Given the description of an element on the screen output the (x, y) to click on. 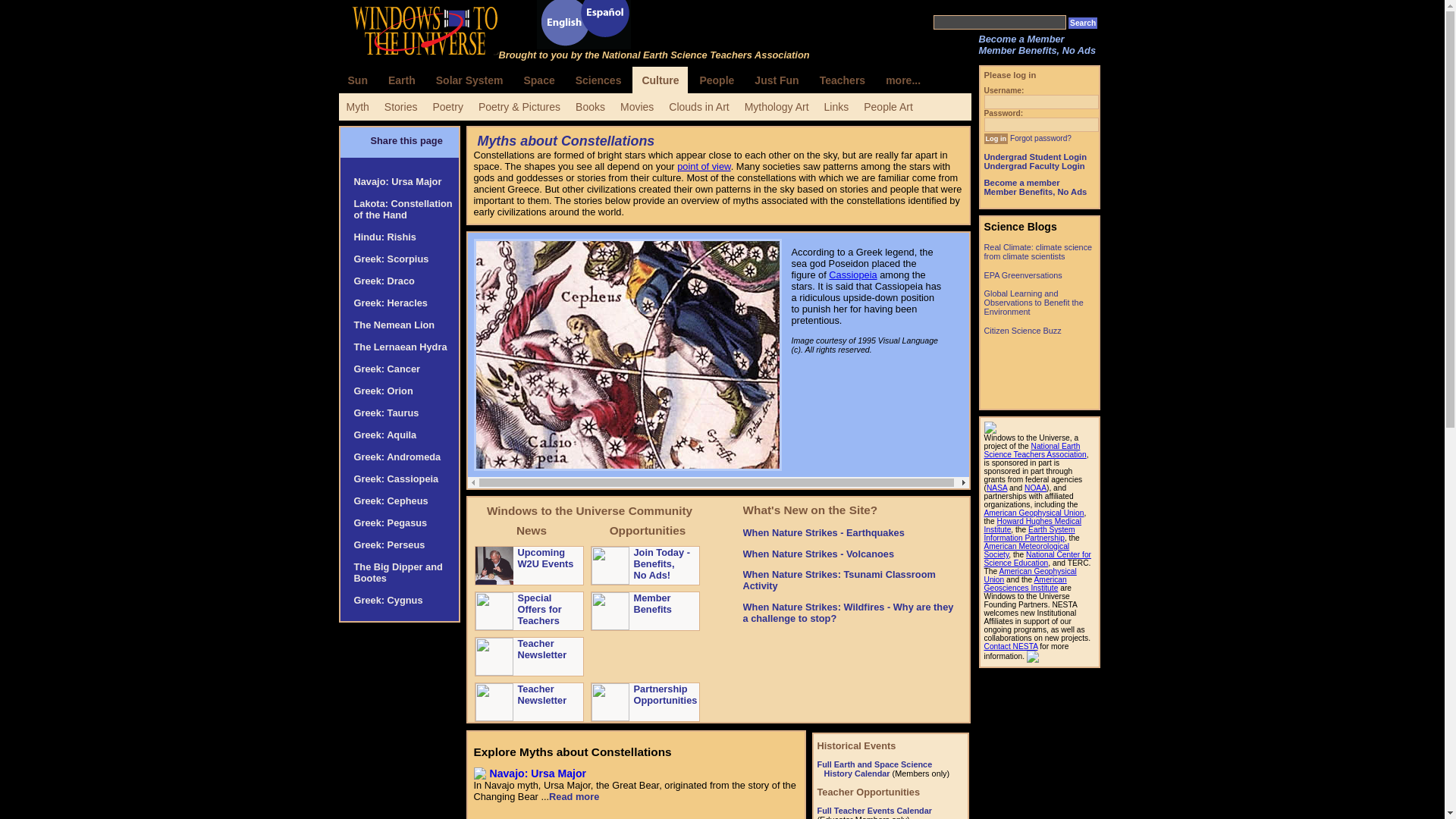
Search (1082, 22)
Earth (401, 80)
Member Benefits, No Ads (1037, 50)
Search (1082, 22)
Search (1082, 22)
Become a Member (1021, 39)
Log in (996, 138)
Sun (356, 80)
